Given the description of an element on the screen output the (x, y) to click on. 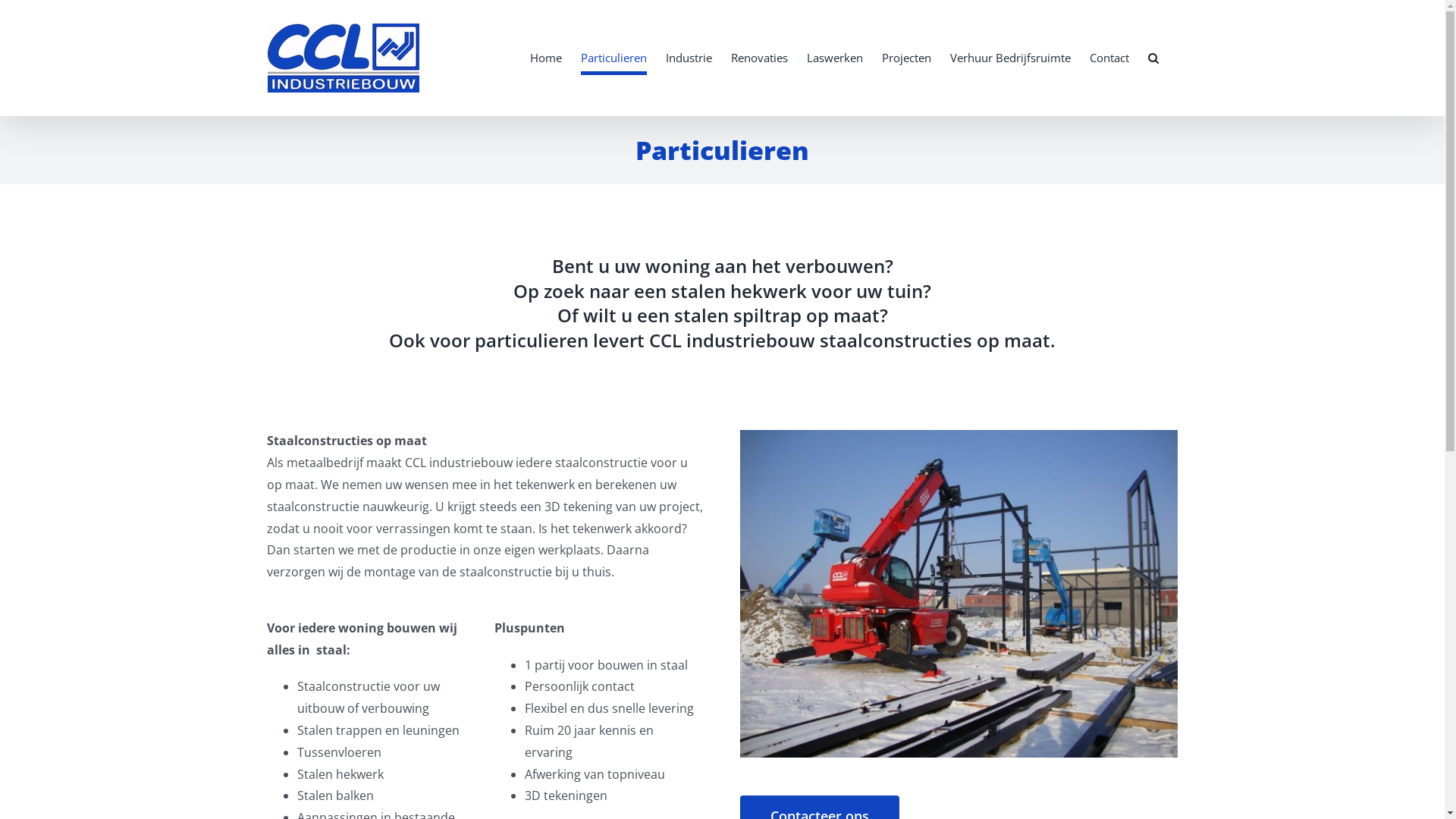
Particulieren Element type: text (613, 58)
Staalconstructie dag 1 022 Element type: hover (958, 593)
Home Element type: text (545, 58)
Contact Element type: text (1108, 58)
Verhuur Bedrijfsruimte Element type: text (1009, 58)
Renovaties Element type: text (759, 58)
Search Element type: hover (1153, 58)
Laswerken Element type: text (834, 58)
Projecten Element type: text (905, 58)
Industrie Element type: text (688, 58)
